Given the description of an element on the screen output the (x, y) to click on. 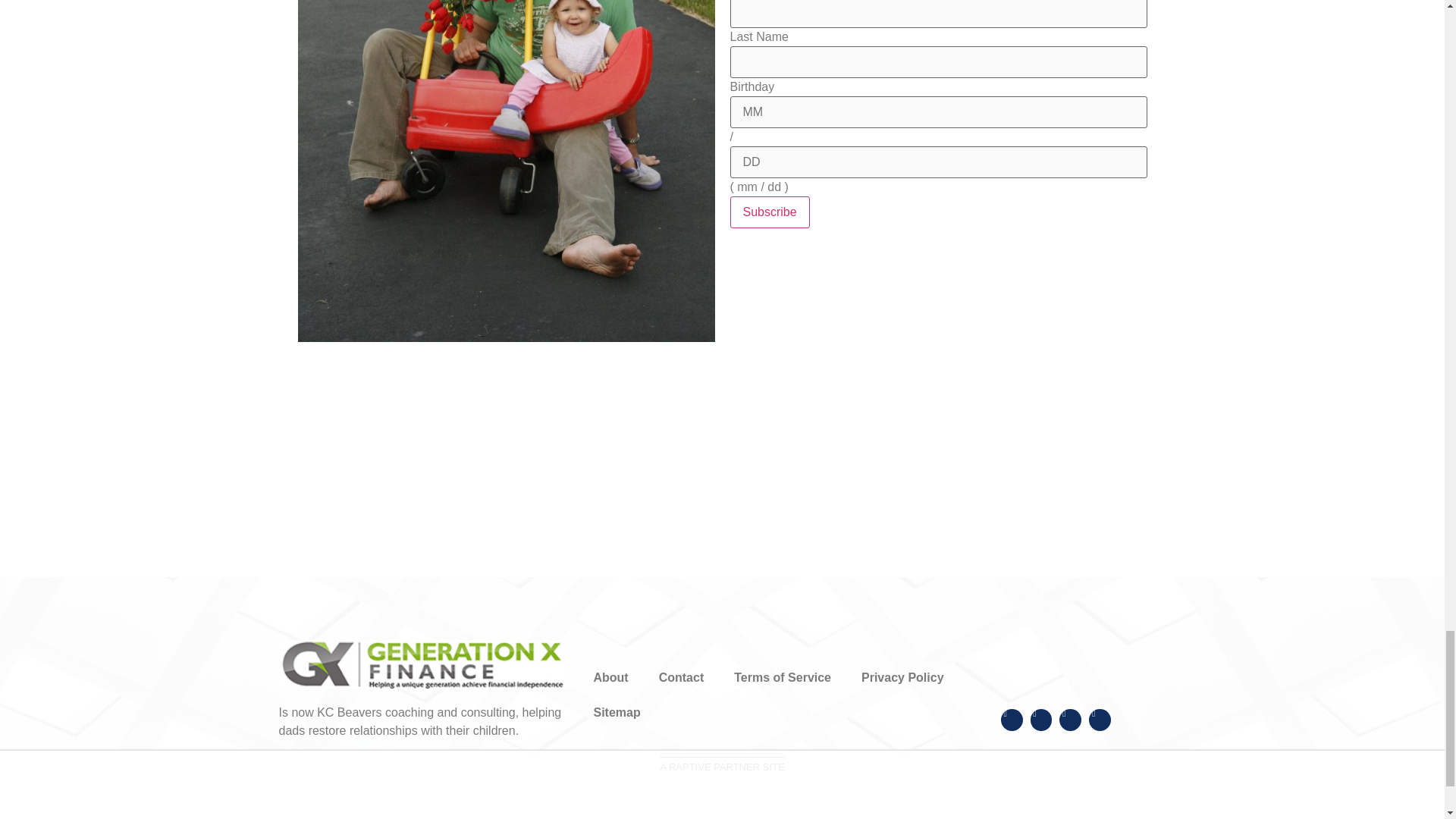
About (610, 677)
Sitemap (616, 712)
Contact (681, 677)
Subscribe (769, 212)
Subscribe (769, 212)
Terms of Service (782, 677)
Privacy Policy (902, 677)
